Given the description of an element on the screen output the (x, y) to click on. 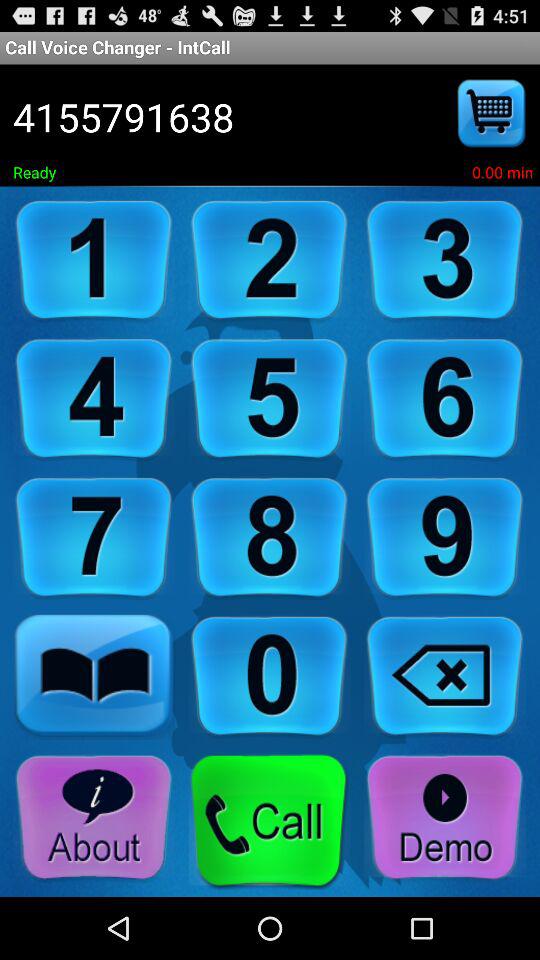
select number (445, 260)
